Given the description of an element on the screen output the (x, y) to click on. 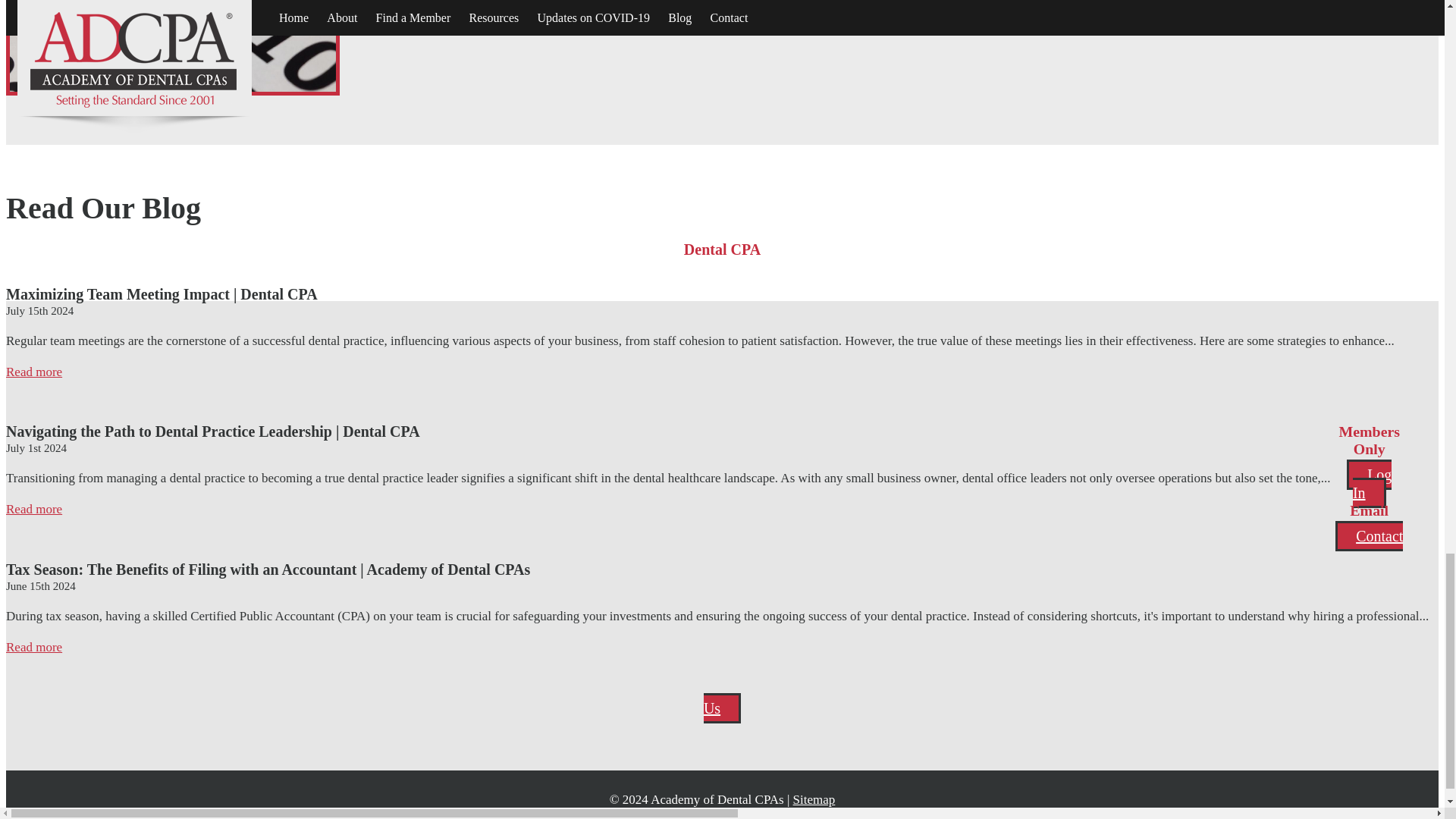
Log In (1368, 483)
Sitemap (814, 799)
Read more (33, 371)
Read more (33, 646)
Read more (33, 509)
